Given the description of an element on the screen output the (x, y) to click on. 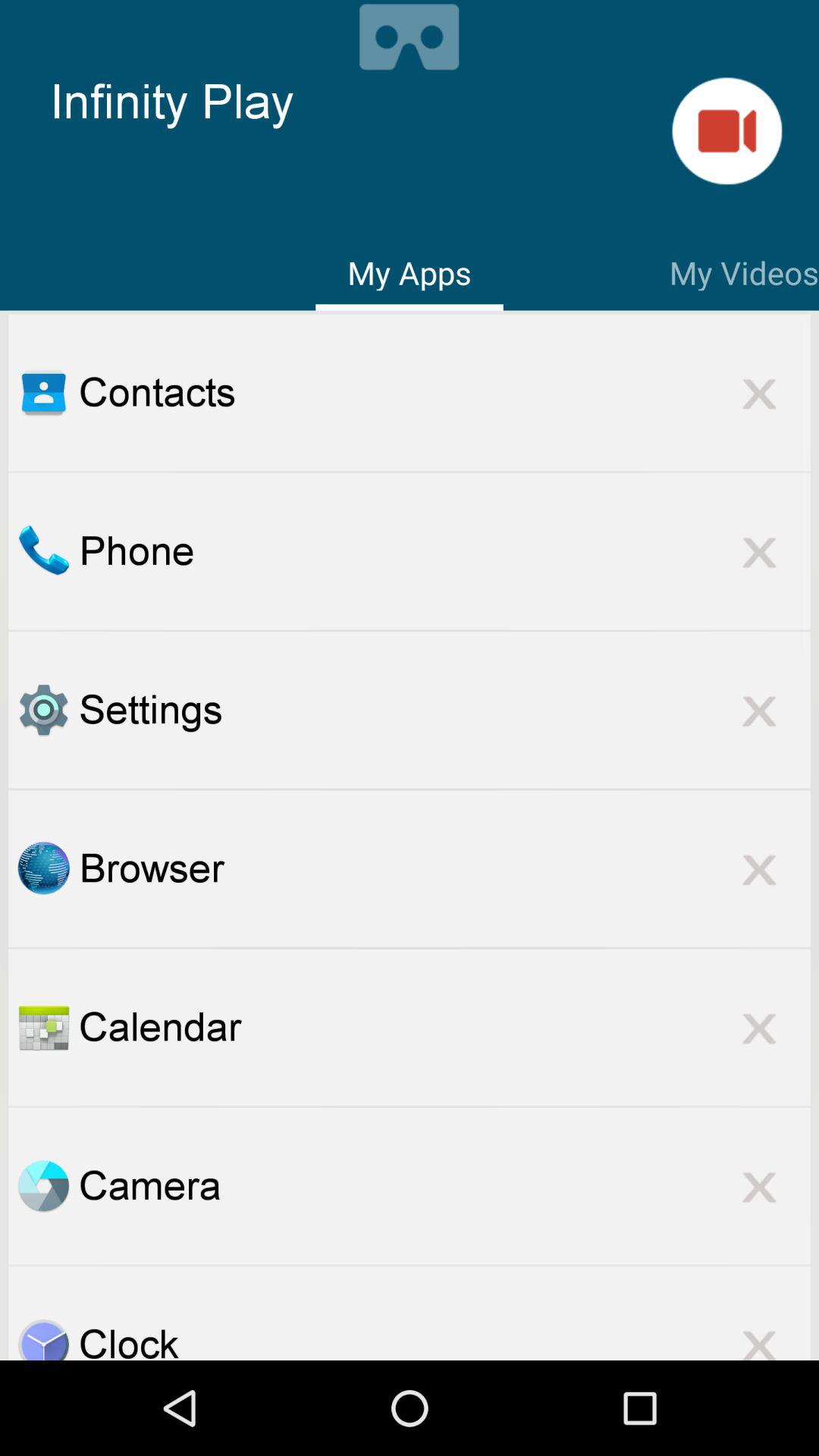
close out of browser (759, 868)
